Given the description of an element on the screen output the (x, y) to click on. 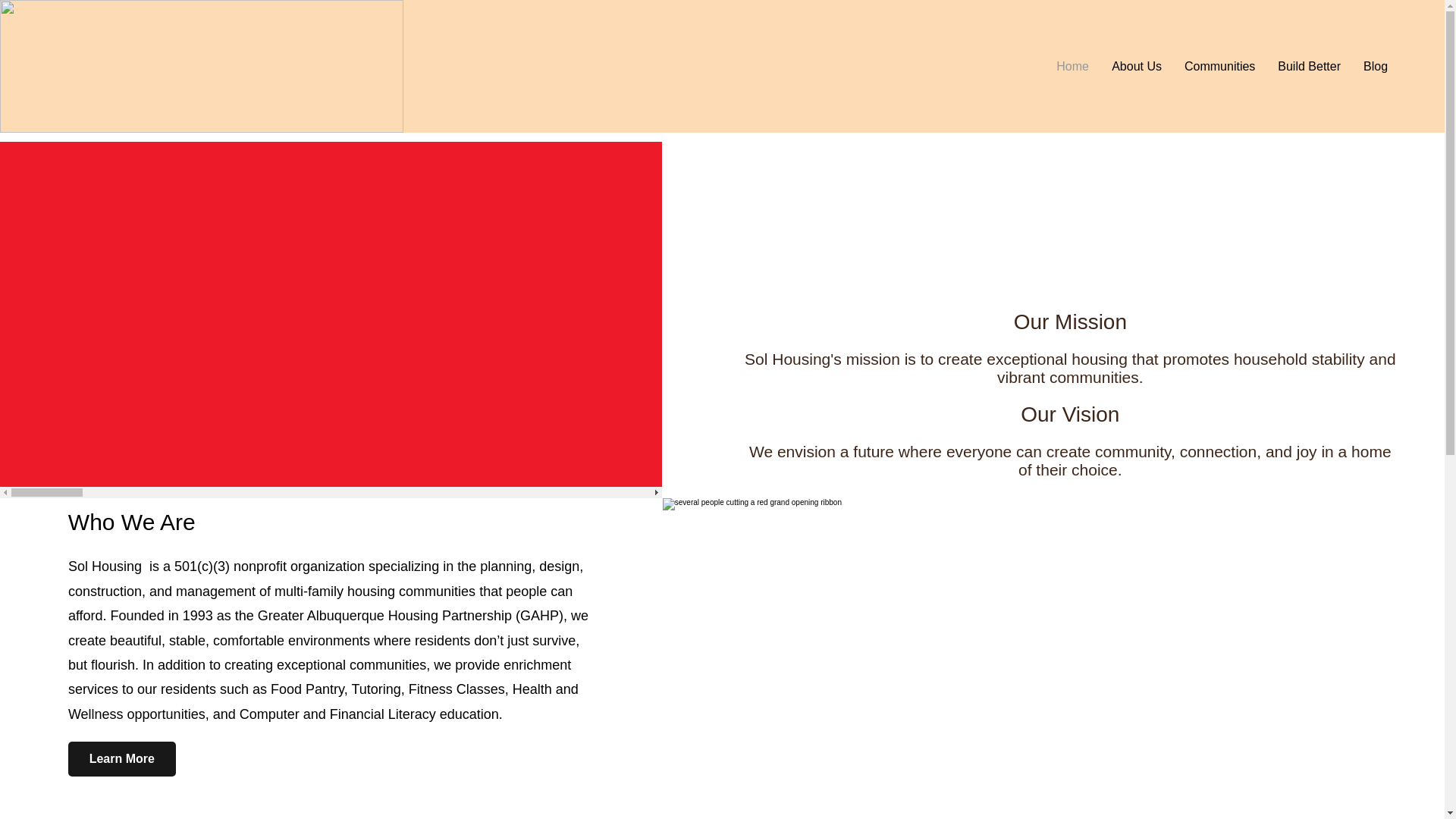
About Us (1136, 66)
Learn More (122, 759)
Home (1072, 66)
Blog (1375, 66)
Build Better (1309, 66)
Communities (1219, 66)
